Given the description of an element on the screen output the (x, y) to click on. 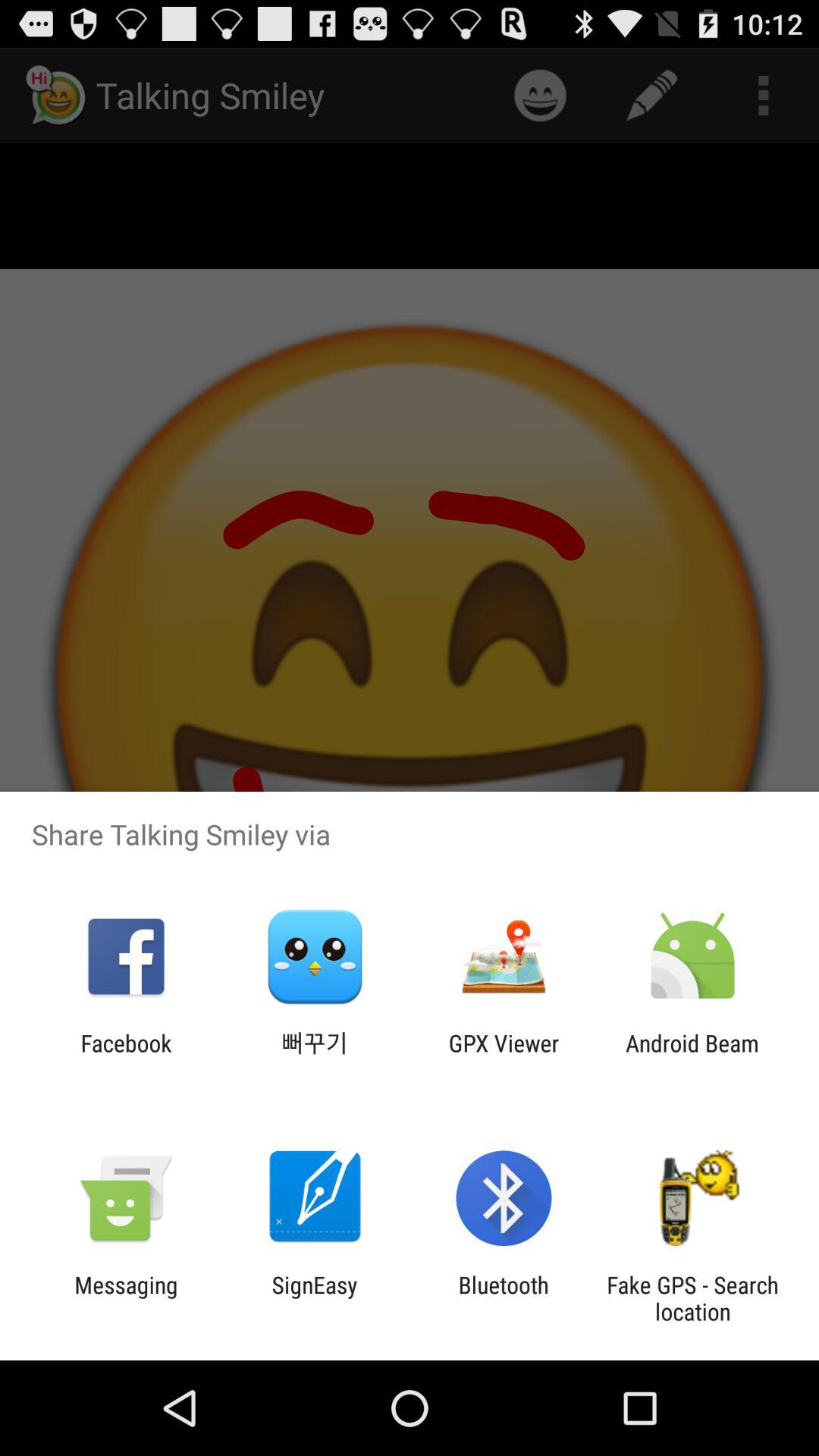
select the icon to the right of facebook app (314, 1056)
